Given the description of an element on the screen output the (x, y) to click on. 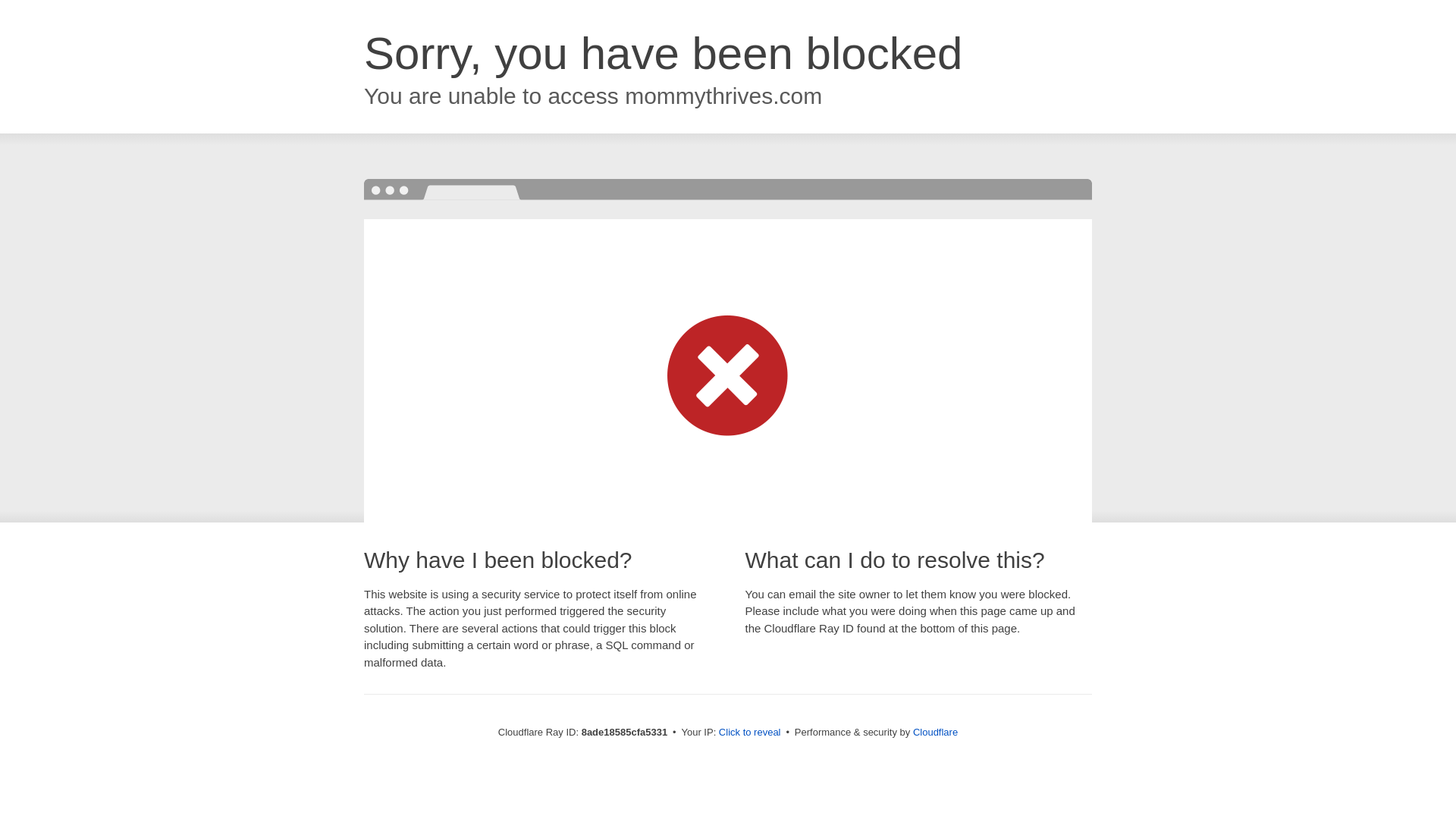
Cloudflare (935, 731)
Click to reveal (749, 732)
